Given the description of an element on the screen output the (x, y) to click on. 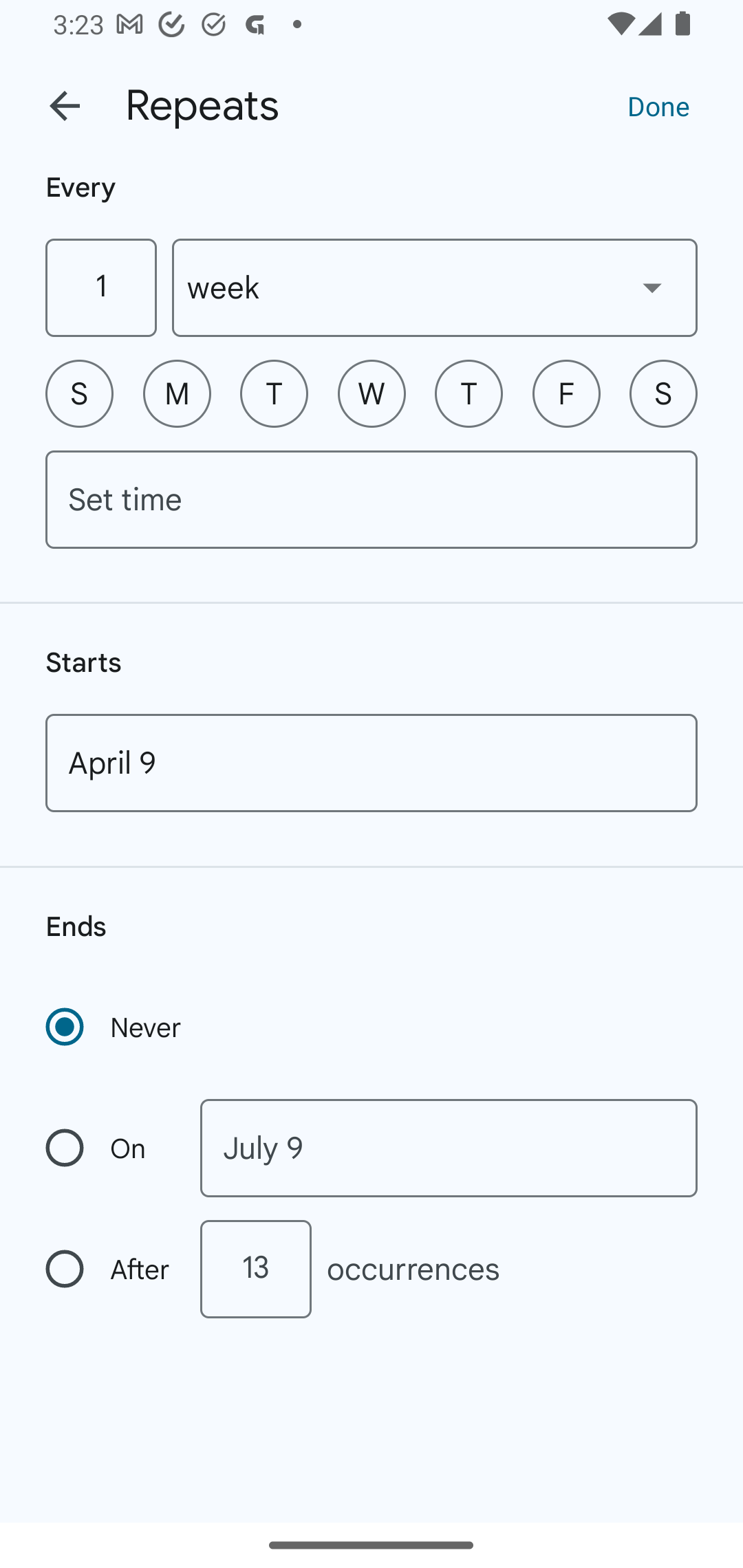
Back (64, 105)
Done (658, 105)
1 (100, 287)
week (434, 287)
Show dropdown menu (652, 286)
S Sunday (79, 393)
M Monday (177, 393)
T Tuesday (273, 393)
W Wednesday (371, 393)
T Thursday (468, 393)
F Friday (566, 393)
S Saturday (663, 393)
Set time (371, 499)
April 9 (371, 762)
Never Recurrence never ends (115, 1026)
July 9 (448, 1148)
On Recurrence ends on a specific date (109, 1148)
13 (255, 1268)
